Given the description of an element on the screen output the (x, y) to click on. 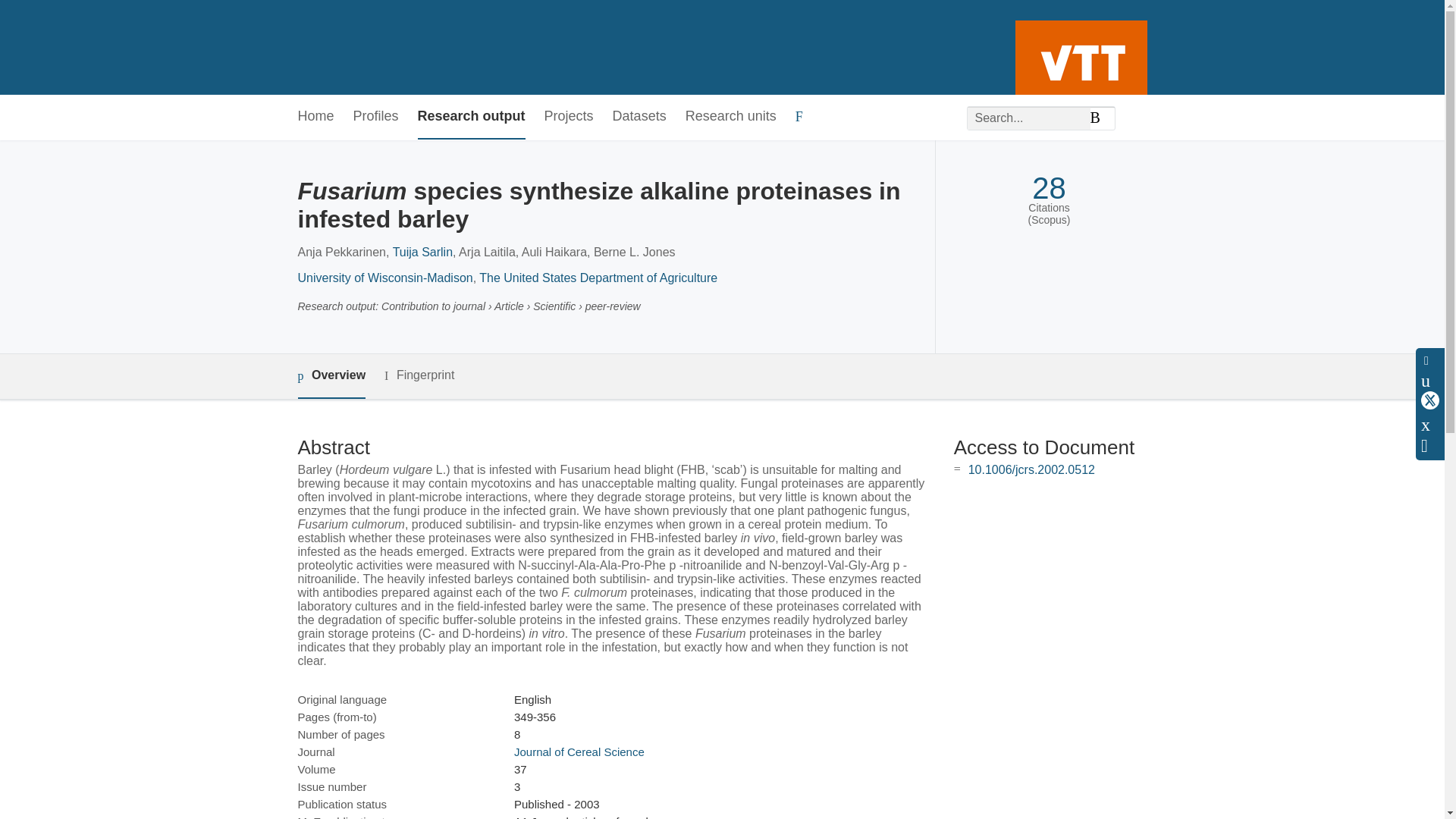
Fingerprint (419, 375)
28 (1048, 188)
University of Wisconsin-Madison (384, 277)
Journal of Cereal Science (579, 751)
Research units (730, 117)
Tuija Sarlin (422, 251)
Datasets (639, 117)
Overview (331, 375)
The United States Department of Agriculture (598, 277)
